Given the description of an element on the screen output the (x, y) to click on. 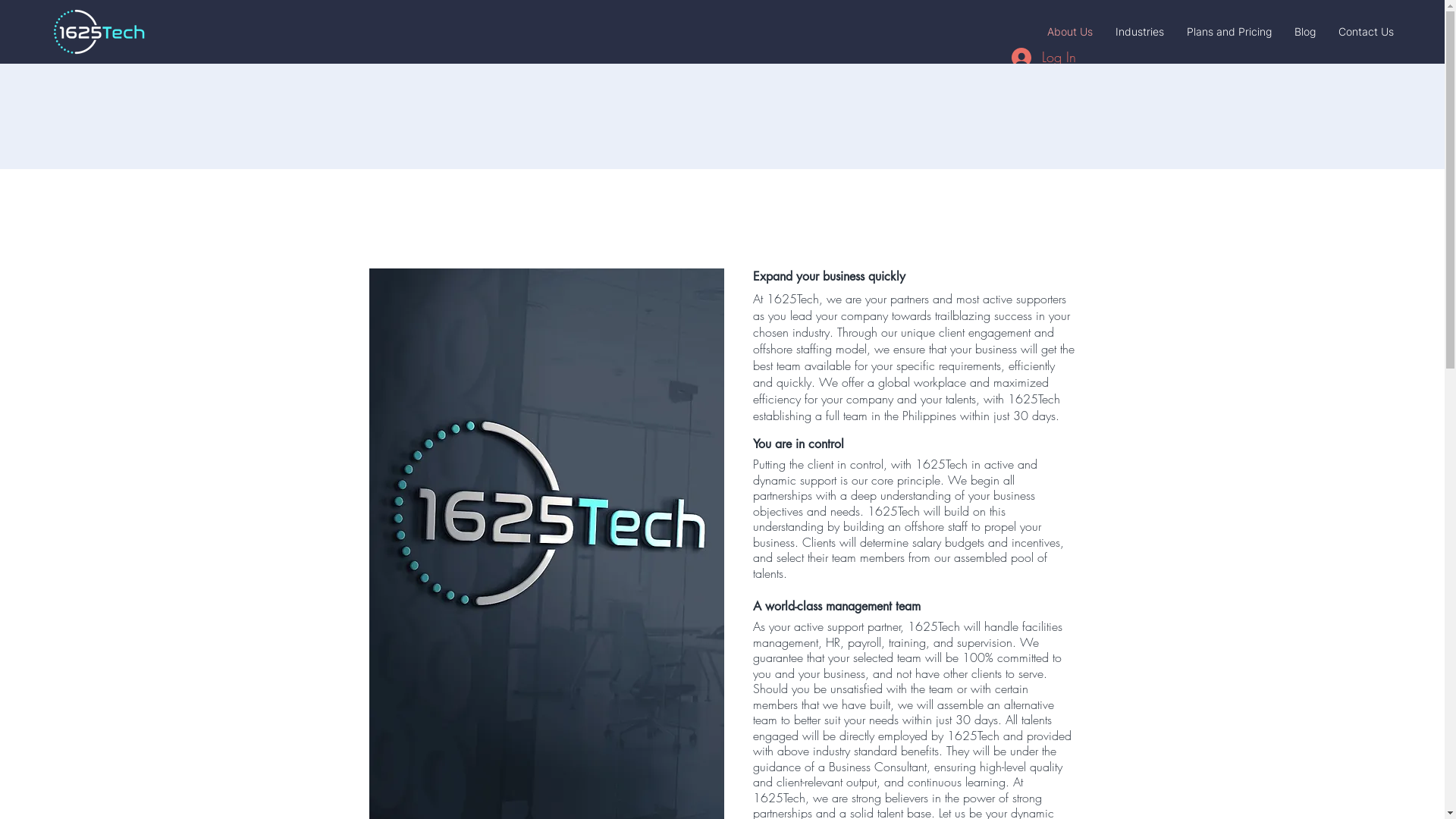
Industries Element type: text (1139, 31)
Blog Element type: text (1305, 31)
Contact Us Element type: text (1366, 31)
About Us Element type: text (1069, 31)
Plans and Pricing Element type: text (1229, 31)
Log In Element type: text (1043, 57)
A10435_1625 Tech_Js (1).png Element type: hover (98, 31)
